Given the description of an element on the screen output the (x, y) to click on. 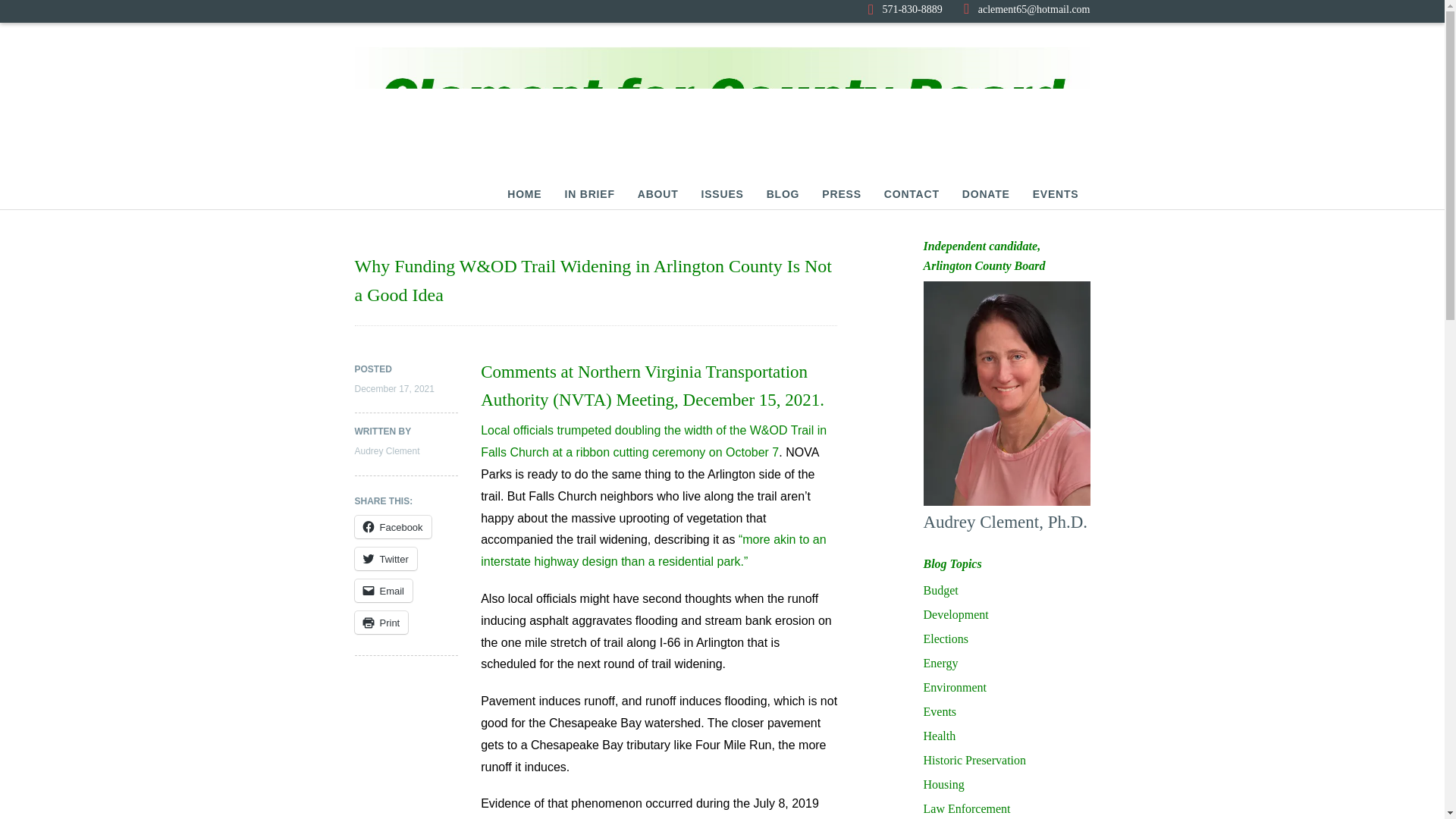
EVENTS (1055, 193)
Events (939, 711)
Click to share on Facebook (392, 526)
571-830-8889 (904, 8)
Facebook (392, 526)
Budget (940, 590)
IN BRIEF (589, 193)
Click to print (382, 621)
Email (384, 590)
Development (955, 614)
Twitter (385, 558)
Health (939, 735)
DONATE (986, 193)
ABOUT (657, 193)
HOME (523, 193)
